Given the description of an element on the screen output the (x, y) to click on. 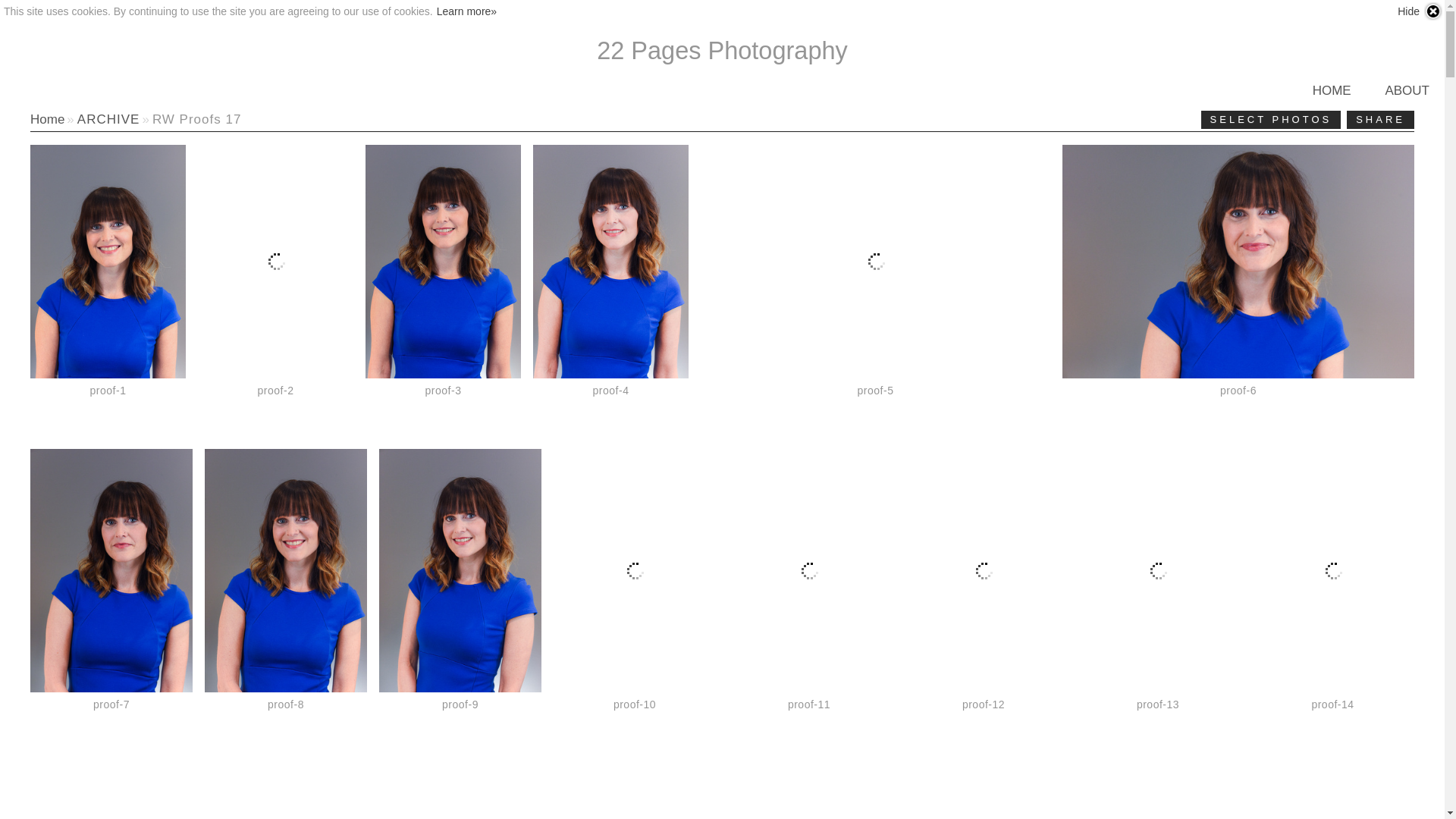
Hide Element type: text (1419, 11)
Home Element type: text (47, 119)
ABOUT Element type: text (1406, 90)
HOME Element type: text (1331, 90)
ARCHIVE Element type: text (108, 119)
